Given the description of an element on the screen output the (x, y) to click on. 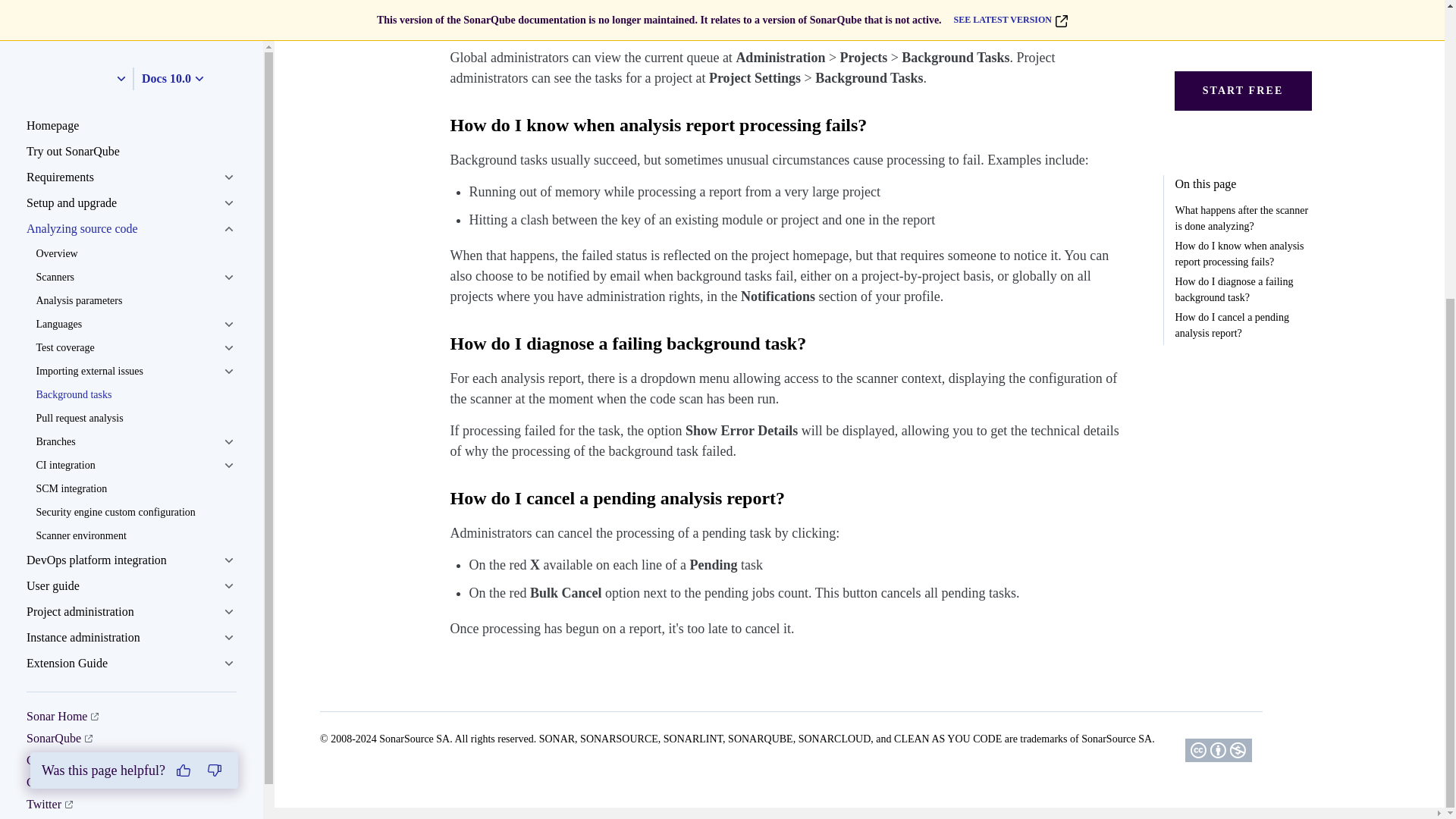
Sonar Home (62, 252)
News (45, 362)
SCM integration (135, 24)
SonarQube (59, 274)
SonarQube (59, 274)
Community (61, 296)
Community (61, 296)
DevOps platform integration (131, 96)
Security engine custom configuration (135, 48)
CI integration (135, 6)
Clean Code (60, 318)
Scanner environment (135, 72)
Security engine custom configuration (135, 48)
Extension Guide (131, 199)
Clean Code (60, 318)
